Given the description of an element on the screen output the (x, y) to click on. 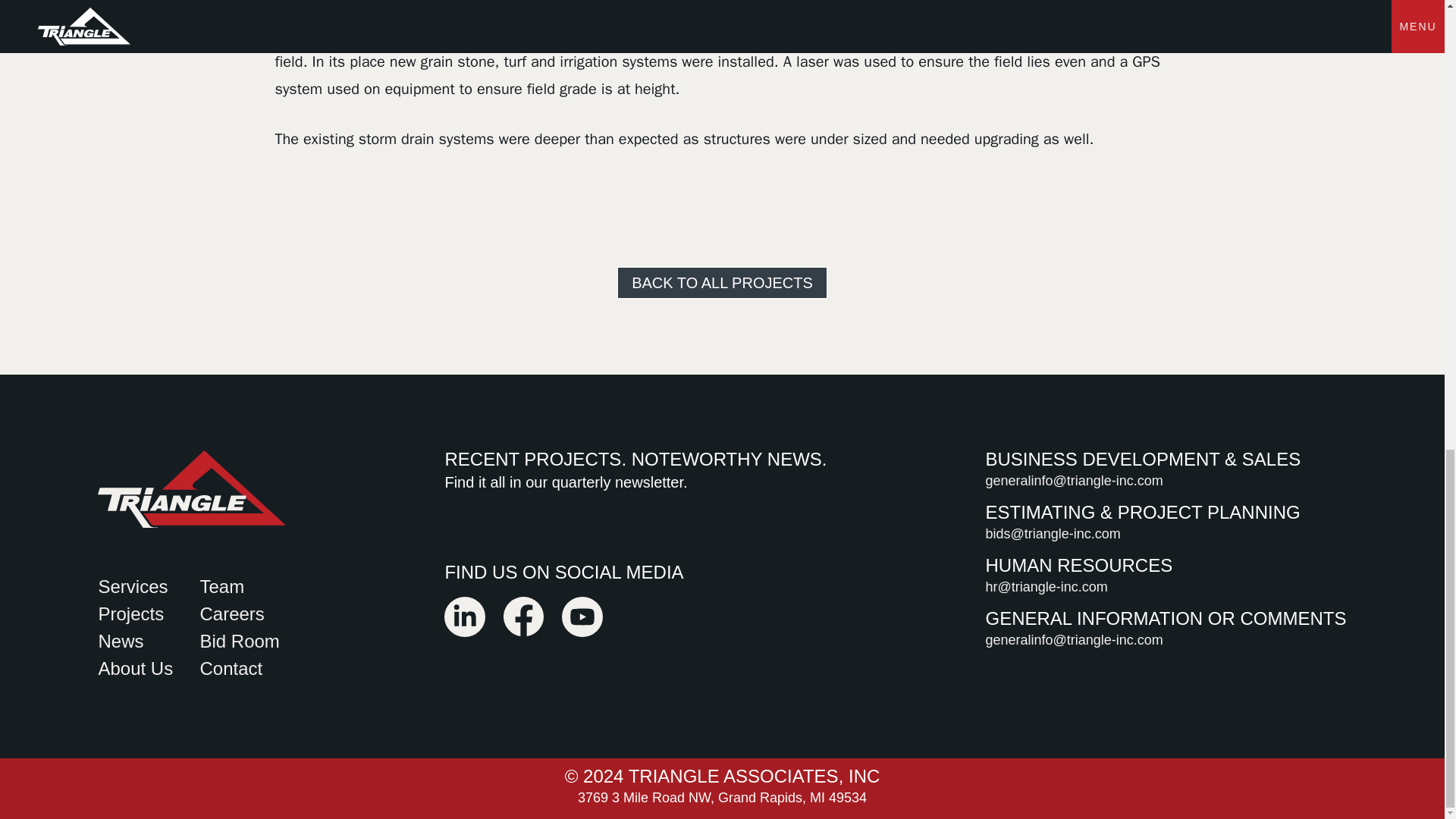
Team (221, 586)
Services (132, 586)
Careers (231, 613)
YouTube (582, 629)
LinkedIn (464, 629)
Contact (230, 668)
BACK TO ALL PROJECTS (722, 282)
Facebook (523, 629)
Projects (130, 613)
Bid Room (239, 640)
News (119, 640)
About Us (135, 668)
